Given the description of an element on the screen output the (x, y) to click on. 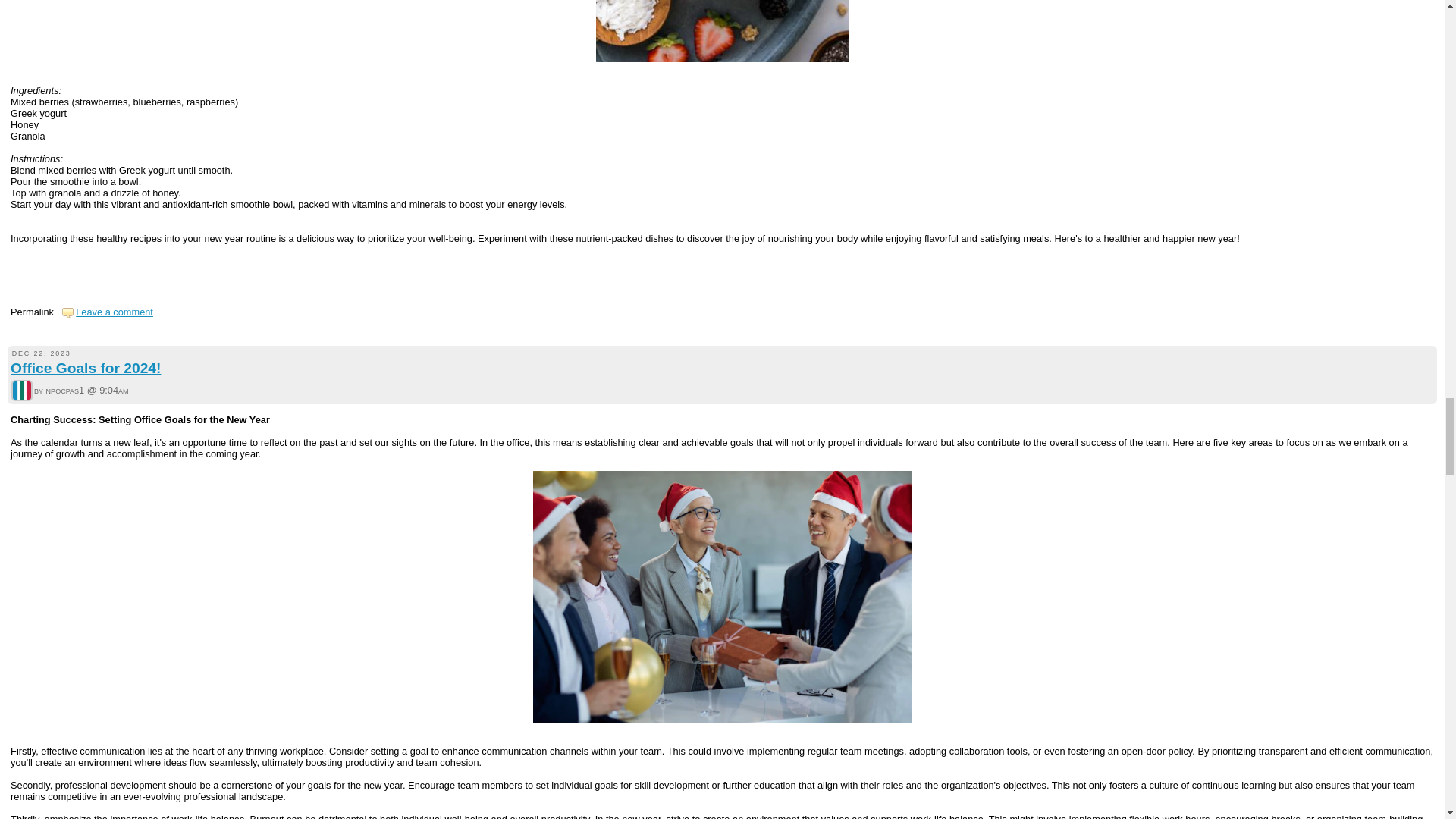
npocpas1 (21, 390)
View profile of npocpas1 (21, 391)
